Given the description of an element on the screen output the (x, y) to click on. 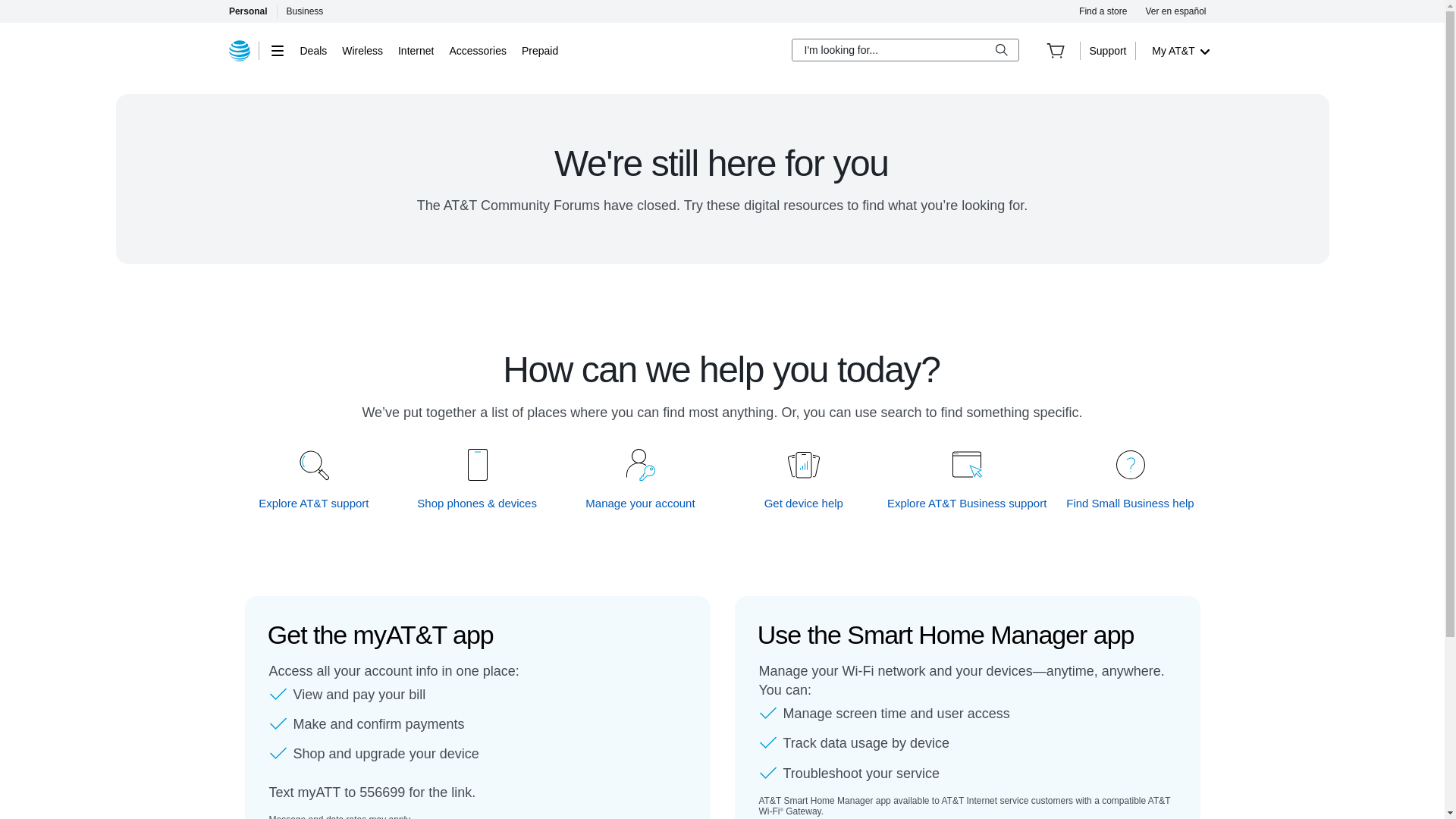
Personal (247, 10)
Get device help (803, 503)
Manage your account (640, 503)
Wireless (362, 50)
Internet (415, 50)
Search (1000, 50)
Business (305, 10)
Support (1107, 50)
Prepaid (539, 50)
Support (1107, 50)
